Given the description of an element on the screen output the (x, y) to click on. 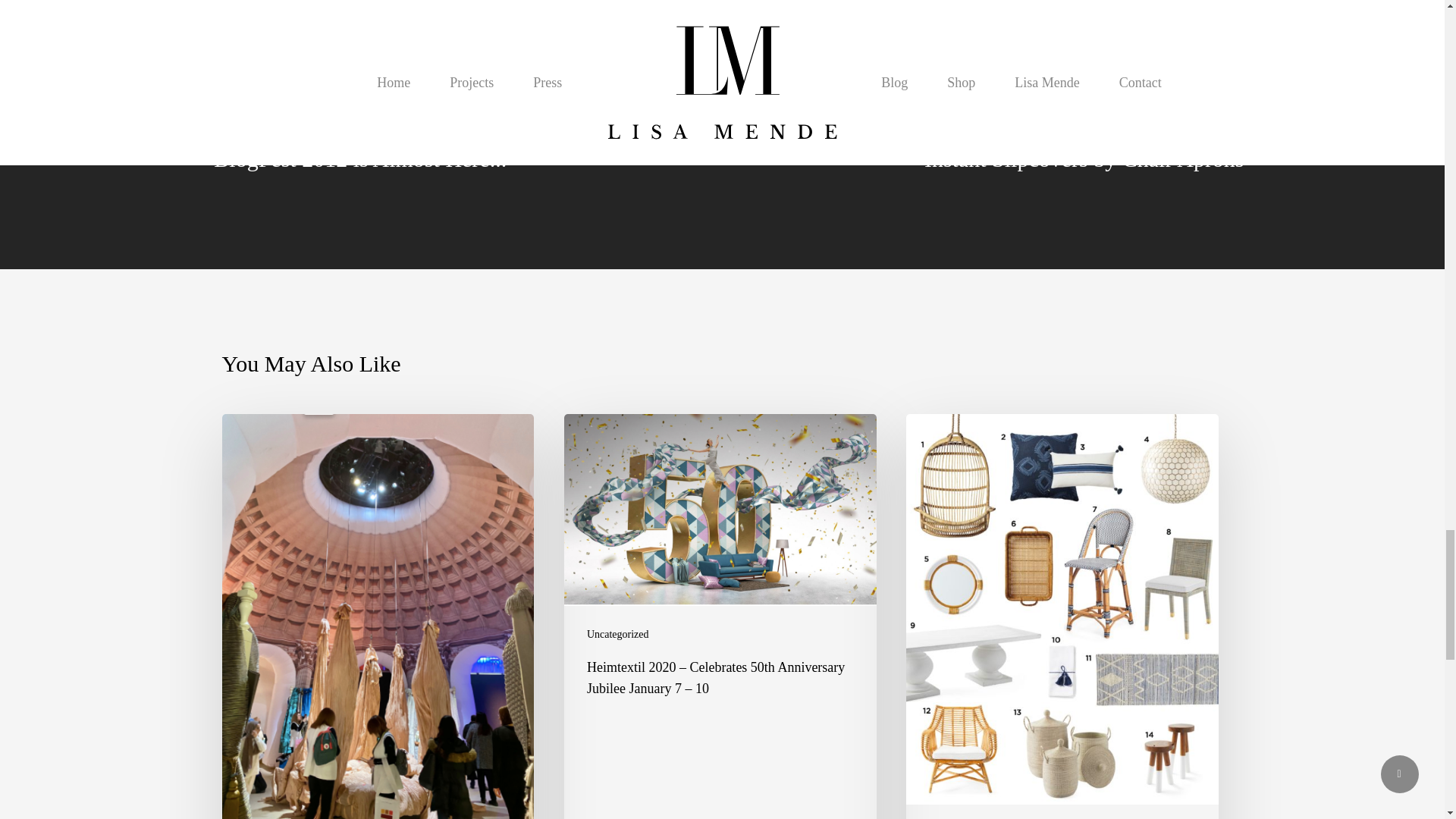
Uncategorized (617, 634)
